Given the description of an element on the screen output the (x, y) to click on. 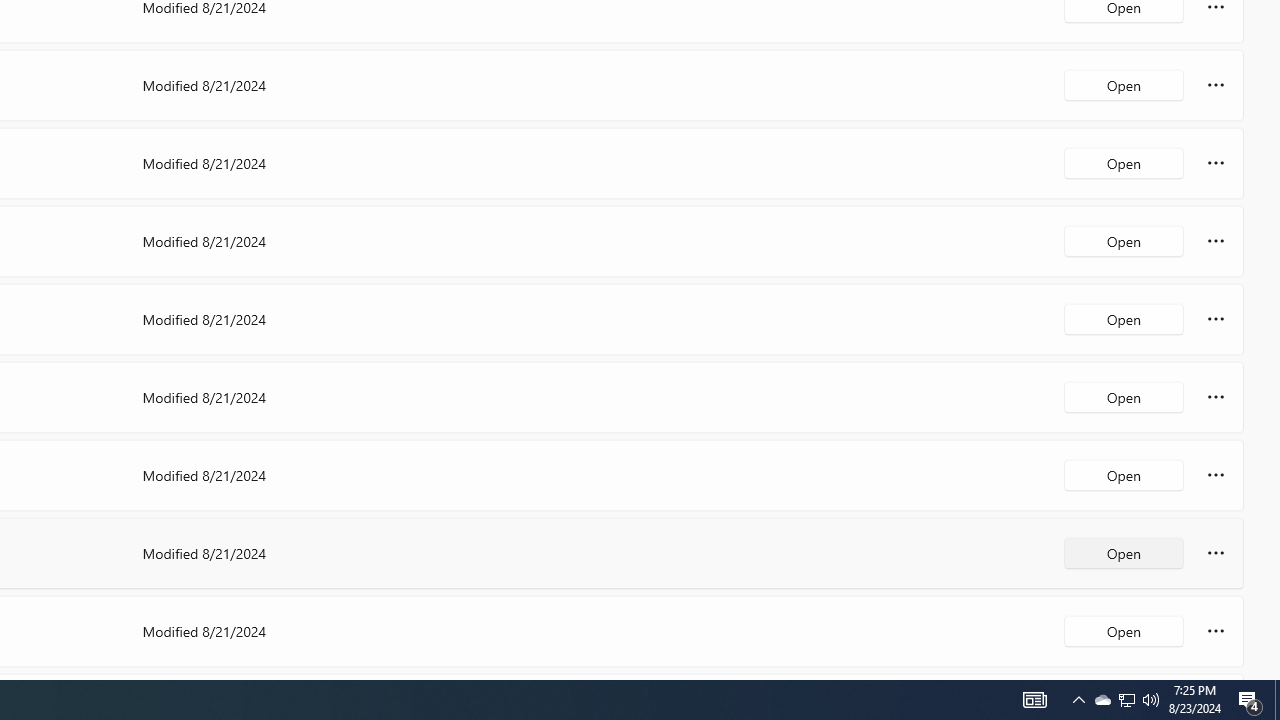
More options (1215, 630)
Open (1123, 630)
